Given the description of an element on the screen output the (x, y) to click on. 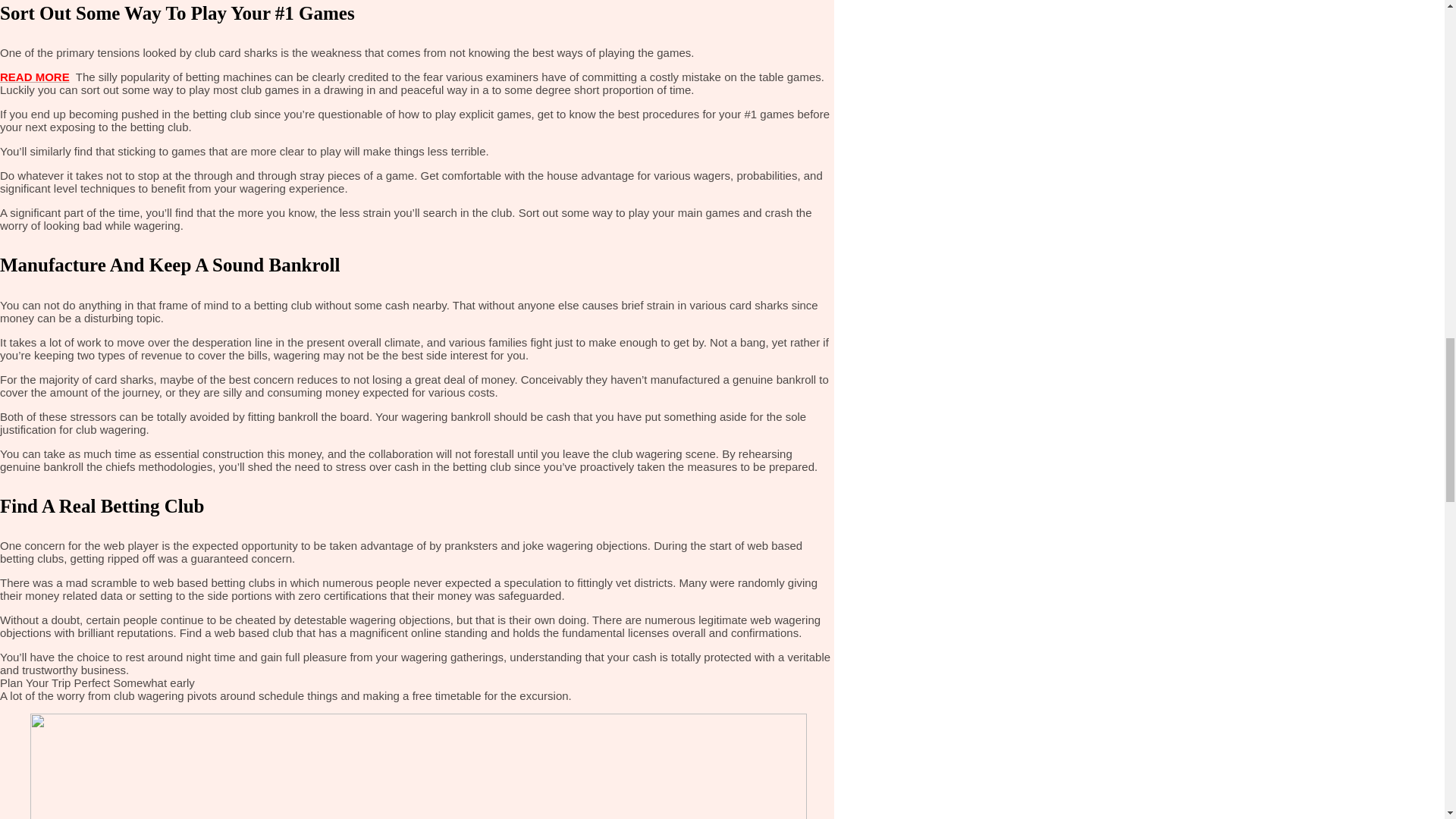
READ MORE (34, 76)
